Given the description of an element on the screen output the (x, y) to click on. 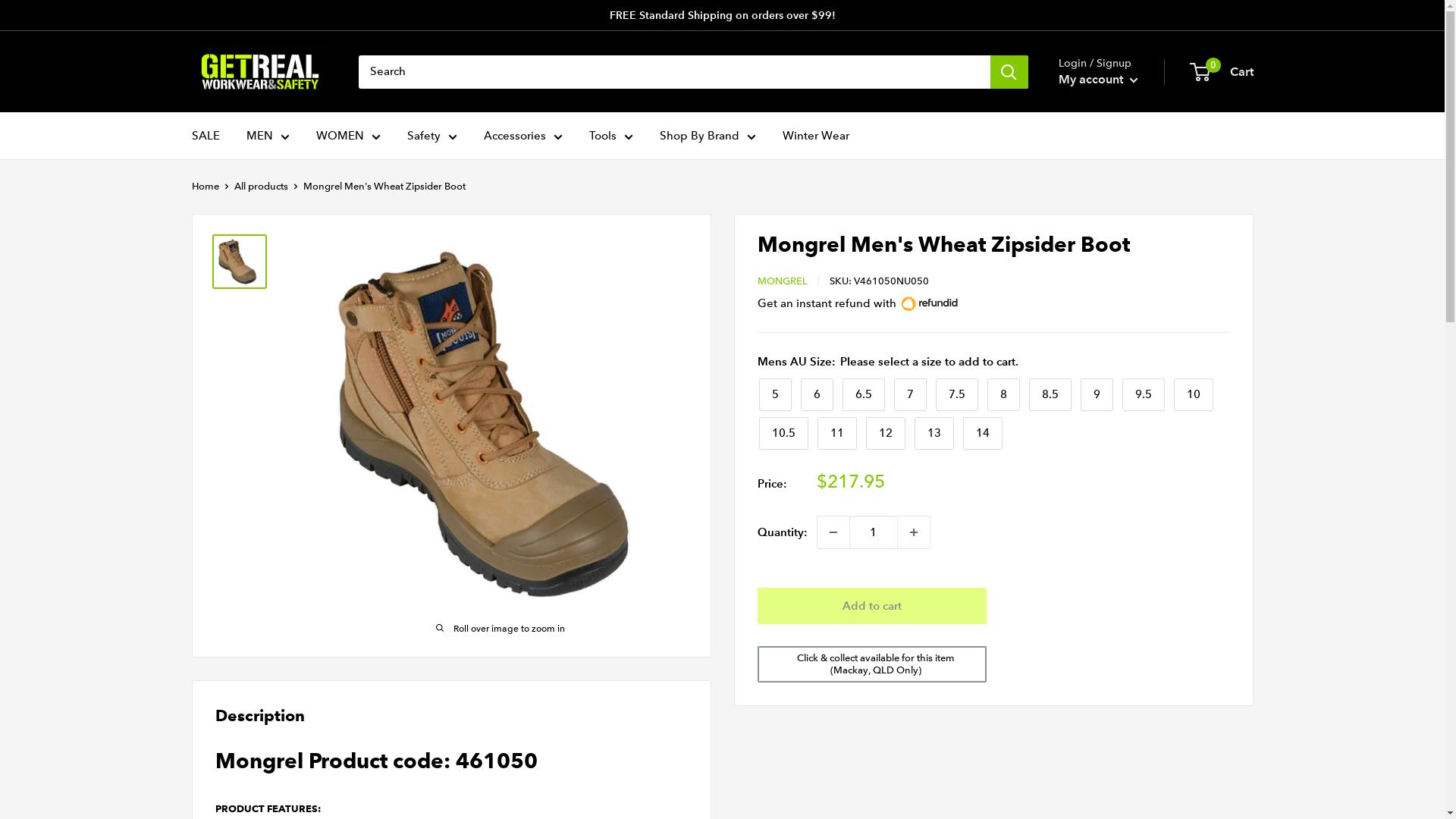
MONGREL Element type: text (781, 280)
Decrease quantity by 1 Element type: hover (833, 532)
Safety Element type: text (431, 135)
Increase quantity by 1 Element type: hover (913, 532)
Accessories Element type: text (522, 135)
WOMEN Element type: text (347, 135)
Workwear Online & Safety Clothing Store Element type: text (259, 71)
Add to cart Element type: text (871, 605)
Tools Element type: text (610, 135)
0
Cart Element type: text (1221, 71)
MEN Element type: text (266, 135)
All products Element type: text (260, 185)
Shop By Brand Element type: text (707, 135)
SALE Element type: text (205, 135)
Home Element type: text (204, 185)
Winter Wear Element type: text (815, 135)
My account Element type: text (1098, 79)
